Given the description of an element on the screen output the (x, y) to click on. 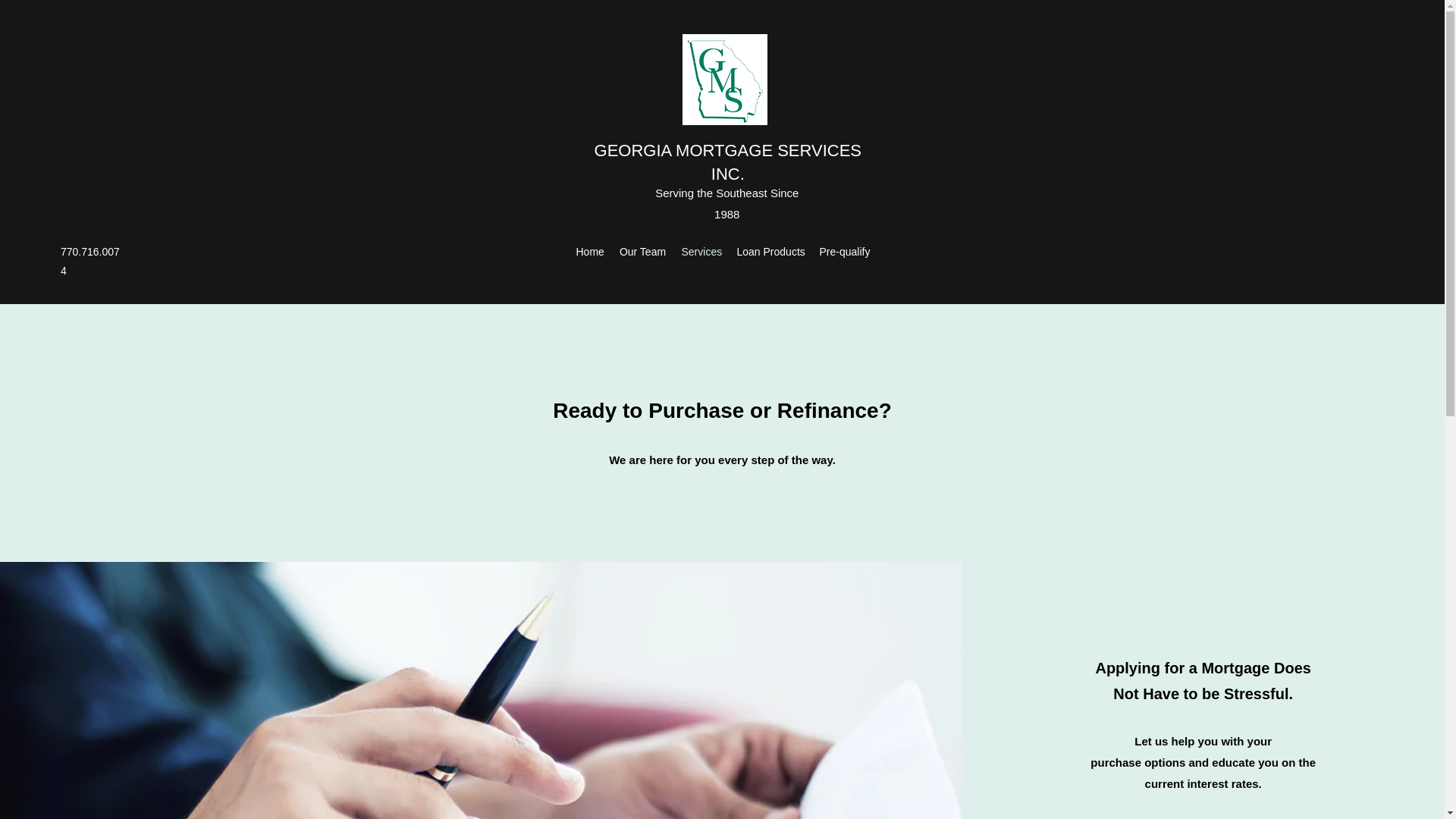
GEORGIA MORTGAGE SERVICES INC. (727, 161)
Loan Products (770, 251)
Our Team (641, 251)
Services (700, 251)
Pre-qualify (843, 251)
Home (590, 251)
